Given the description of an element on the screen output the (x, y) to click on. 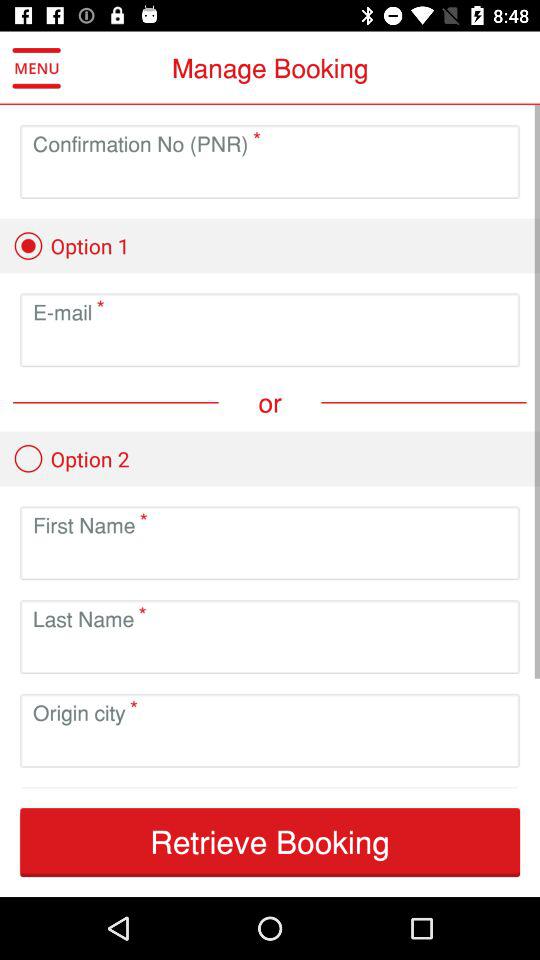
type in first name (270, 558)
